Given the description of an element on the screen output the (x, y) to click on. 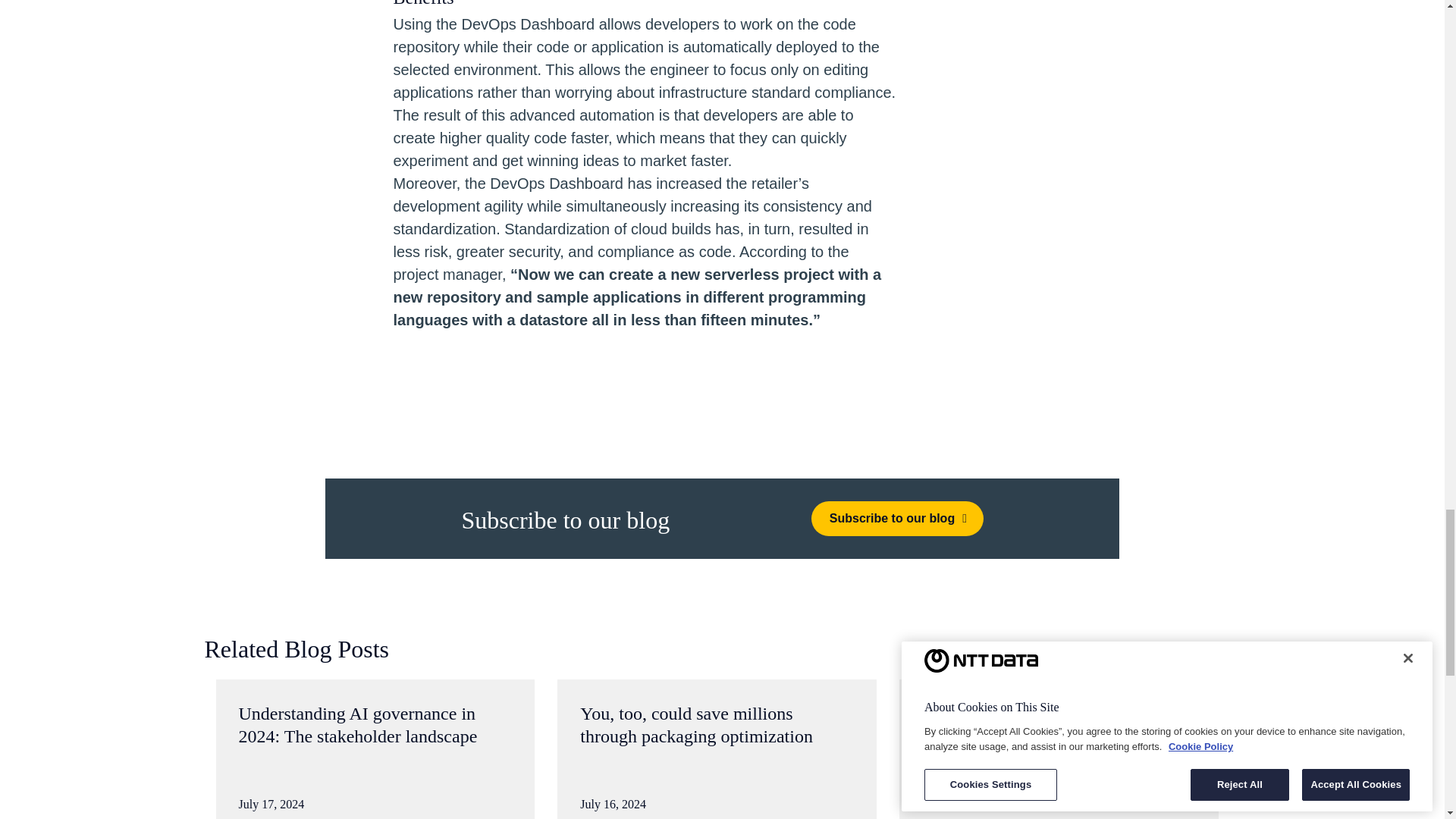
Innovating the future of sport (1058, 749)
Save millions through packaging optimization (716, 749)
Understanding AI governance in 2024 (374, 749)
